Given the description of an element on the screen output the (x, y) to click on. 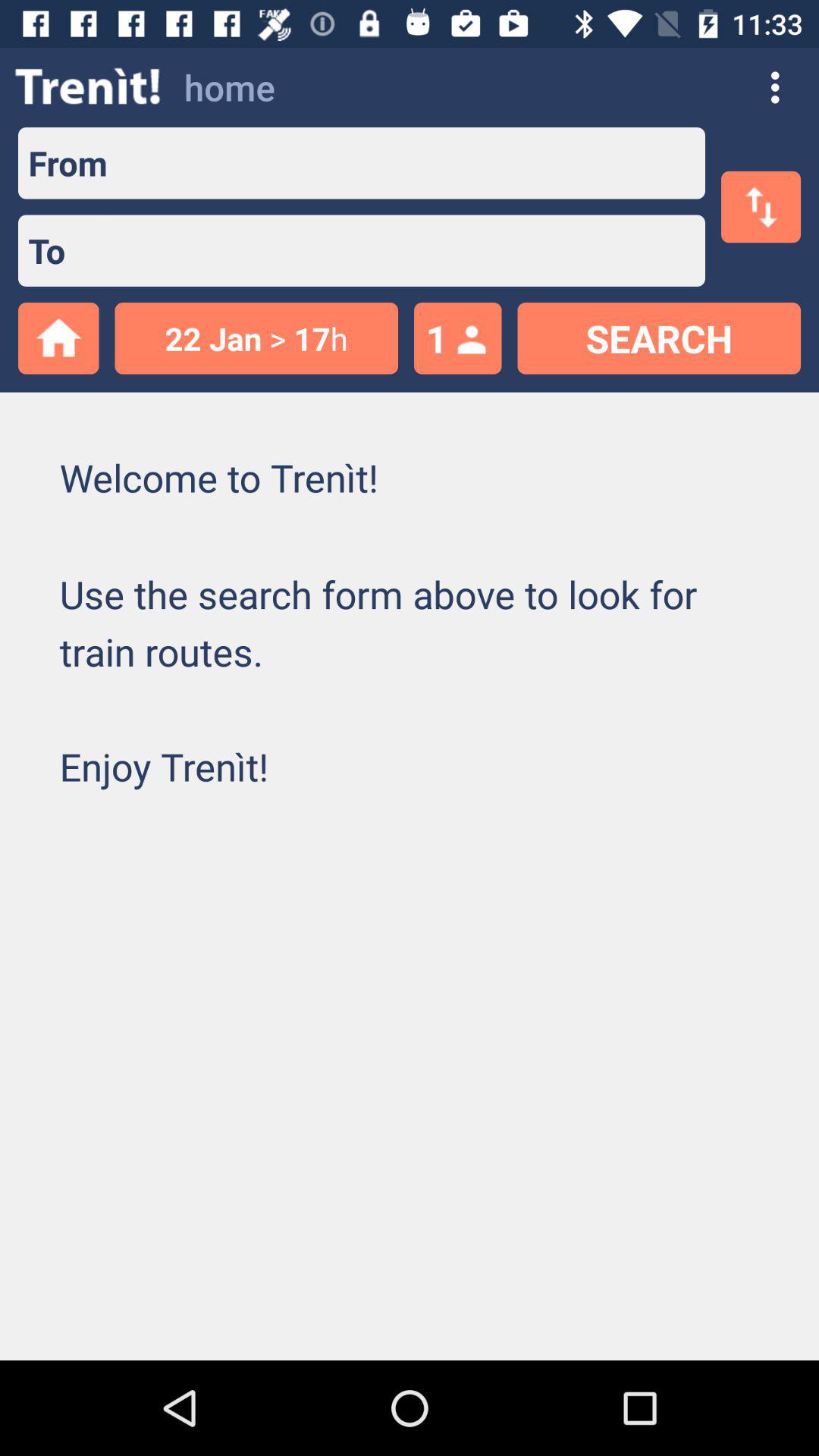
turn on item to the left of home icon (88, 87)
